Given the description of an element on the screen output the (x, y) to click on. 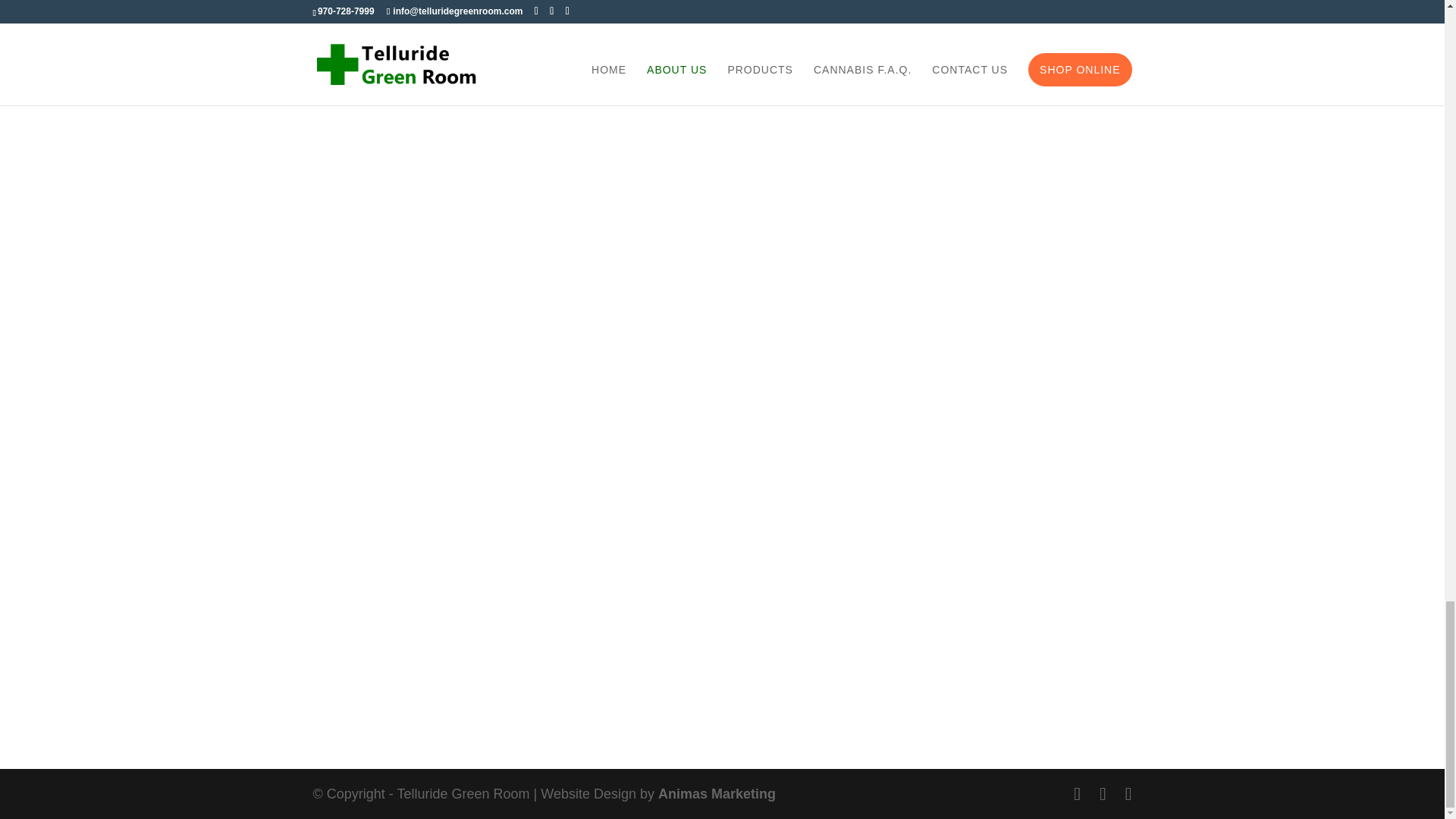
Animas Marketing (717, 793)
